Given the description of an element on the screen output the (x, y) to click on. 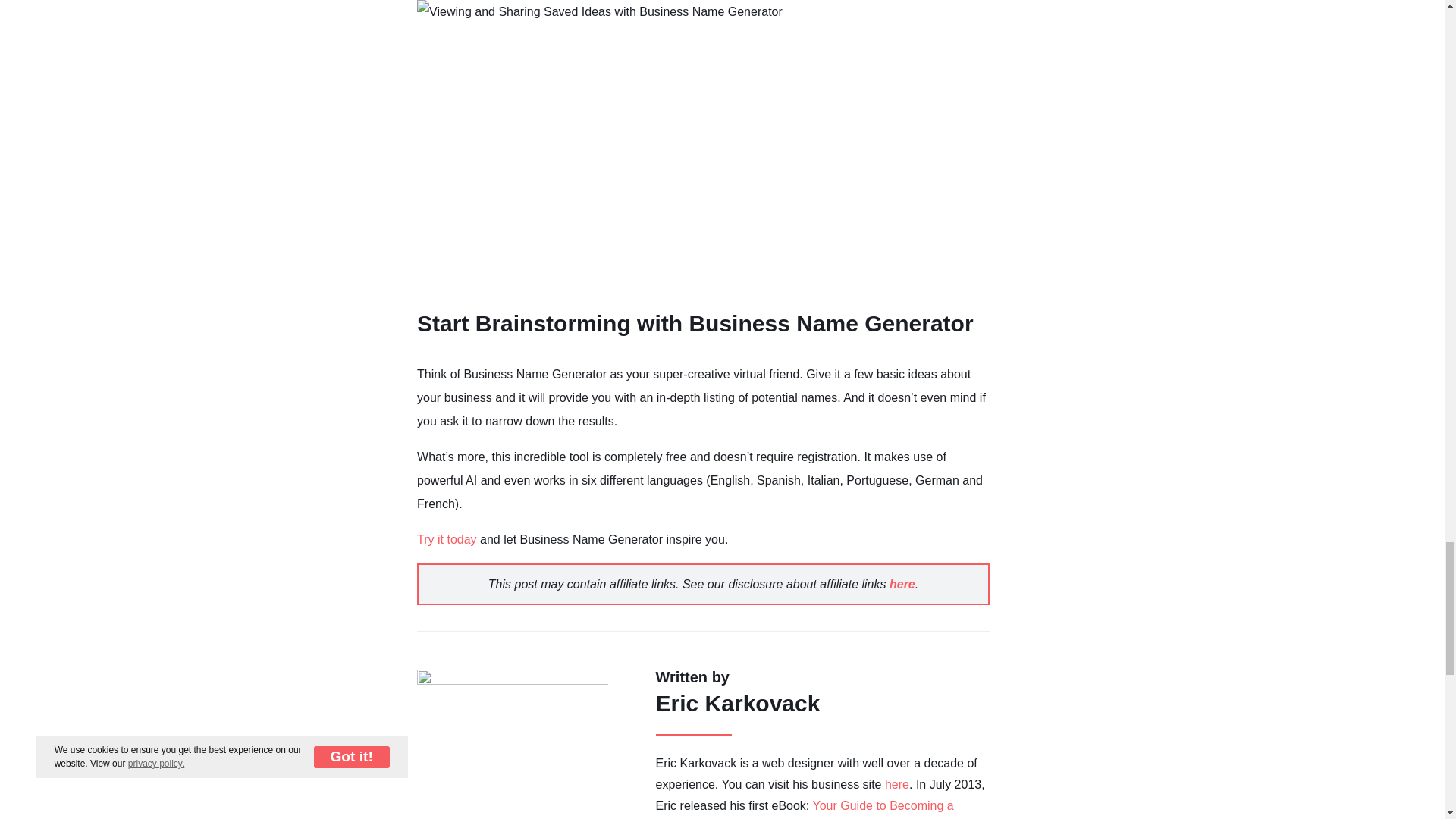
here (902, 584)
Try it today (446, 539)
here (896, 784)
Your Guide to Becoming a Freelance Web Designer (804, 809)
